Given the description of an element on the screen output the (x, y) to click on. 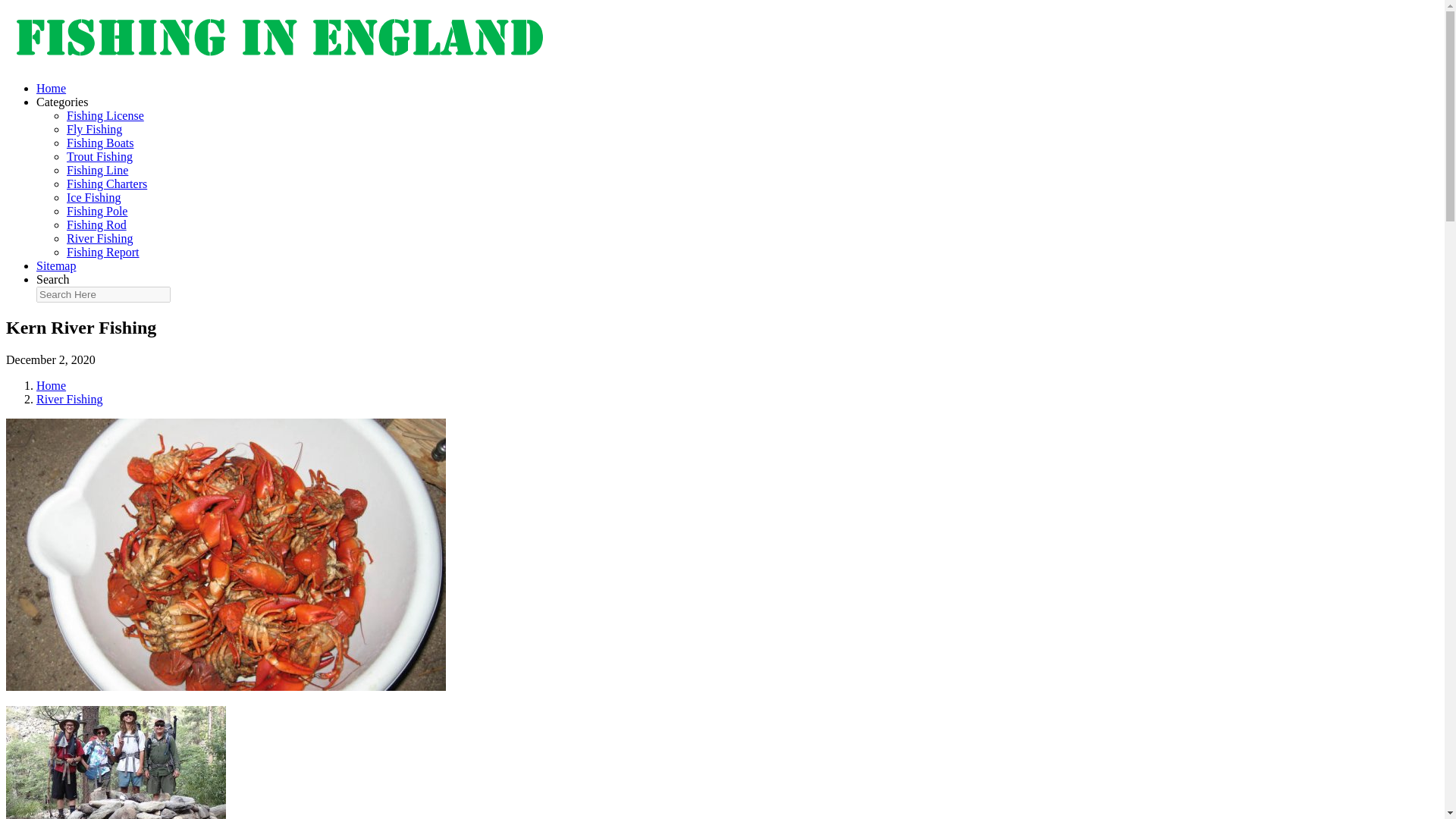
Fishing License (105, 115)
River Fishing (99, 237)
Fishing Boats (99, 142)
Ice Fishing (93, 196)
Fishing Pole (97, 210)
Categories (61, 101)
Search (52, 278)
Fishing Charters (106, 183)
Home (50, 88)
Fishing in England (278, 62)
